Given the description of an element on the screen output the (x, y) to click on. 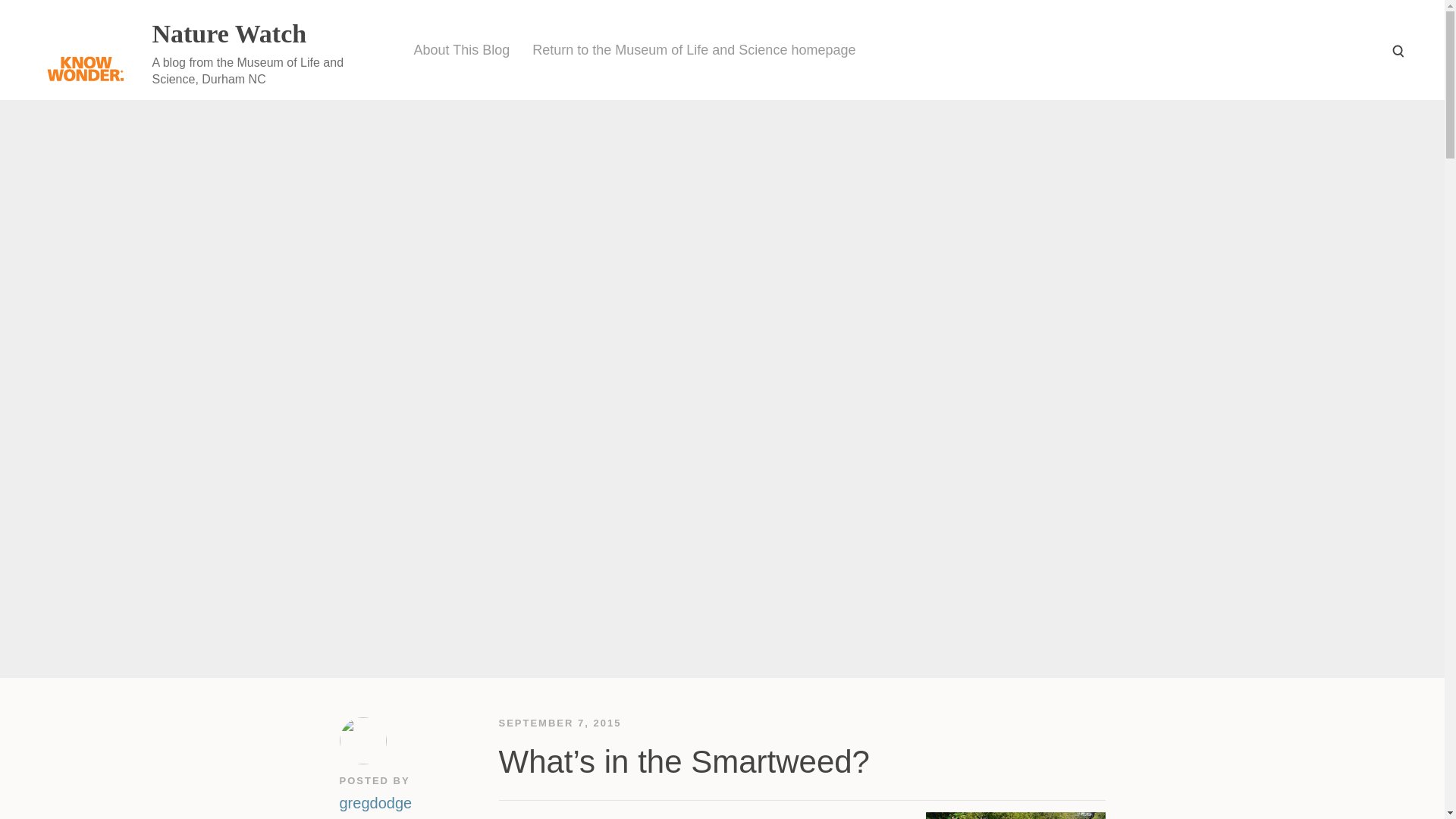
About This Blog (461, 49)
Nature Watch (228, 33)
Search (1396, 50)
Search (1396, 50)
gregdodge (375, 801)
SEPTEMBER 7, 2015 (560, 722)
Search (1396, 50)
Return to the Museum of Life and Science homepage (694, 49)
